Given the description of an element on the screen output the (x, y) to click on. 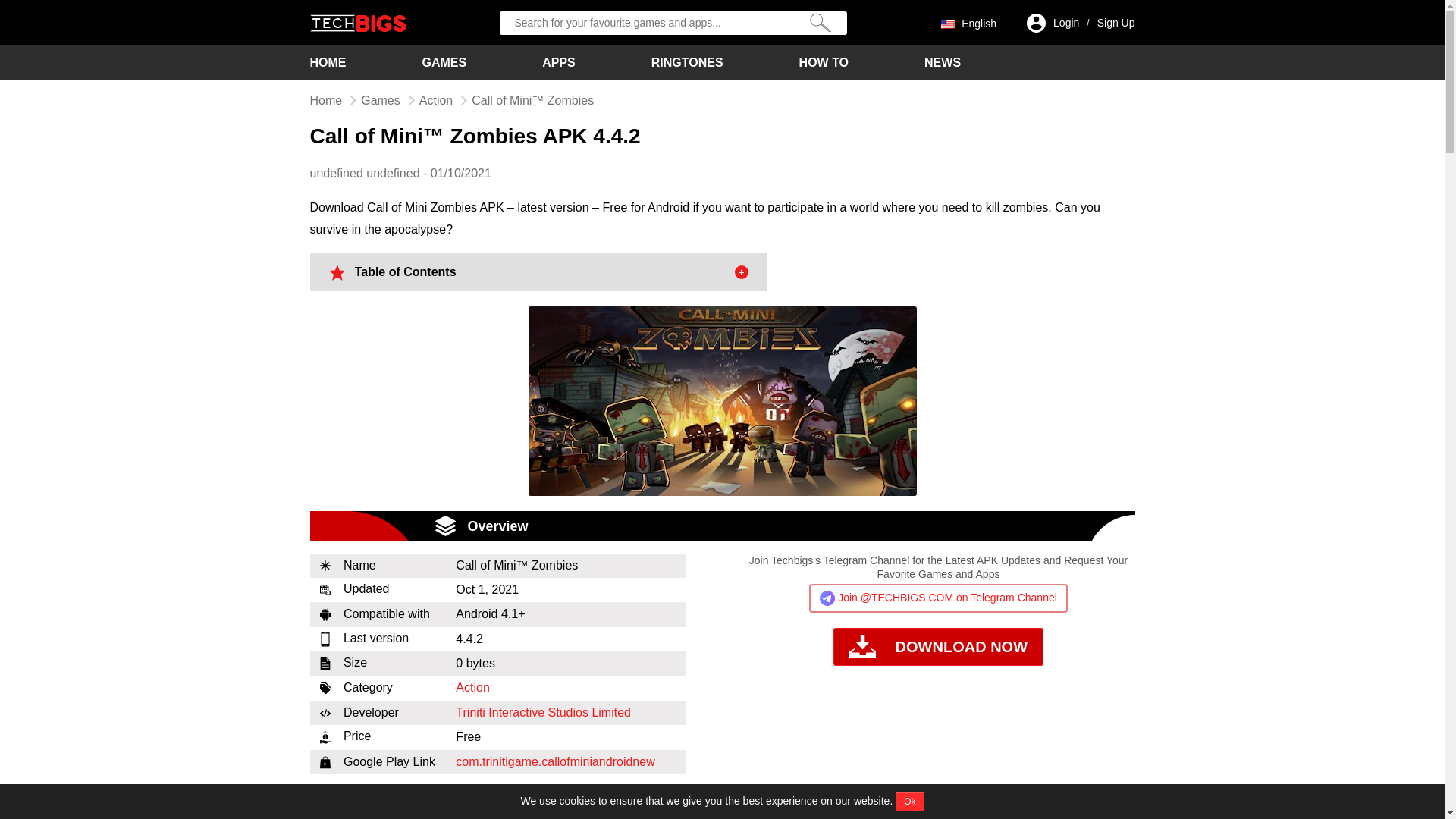
Action (435, 100)
Triniti Interactive Studios Limited (542, 712)
Home (325, 100)
News (942, 62)
Ringtones (686, 62)
English (967, 22)
Apps (558, 62)
HOW TO (823, 62)
GAMES (443, 62)
How To (823, 62)
